Given the description of an element on the screen output the (x, y) to click on. 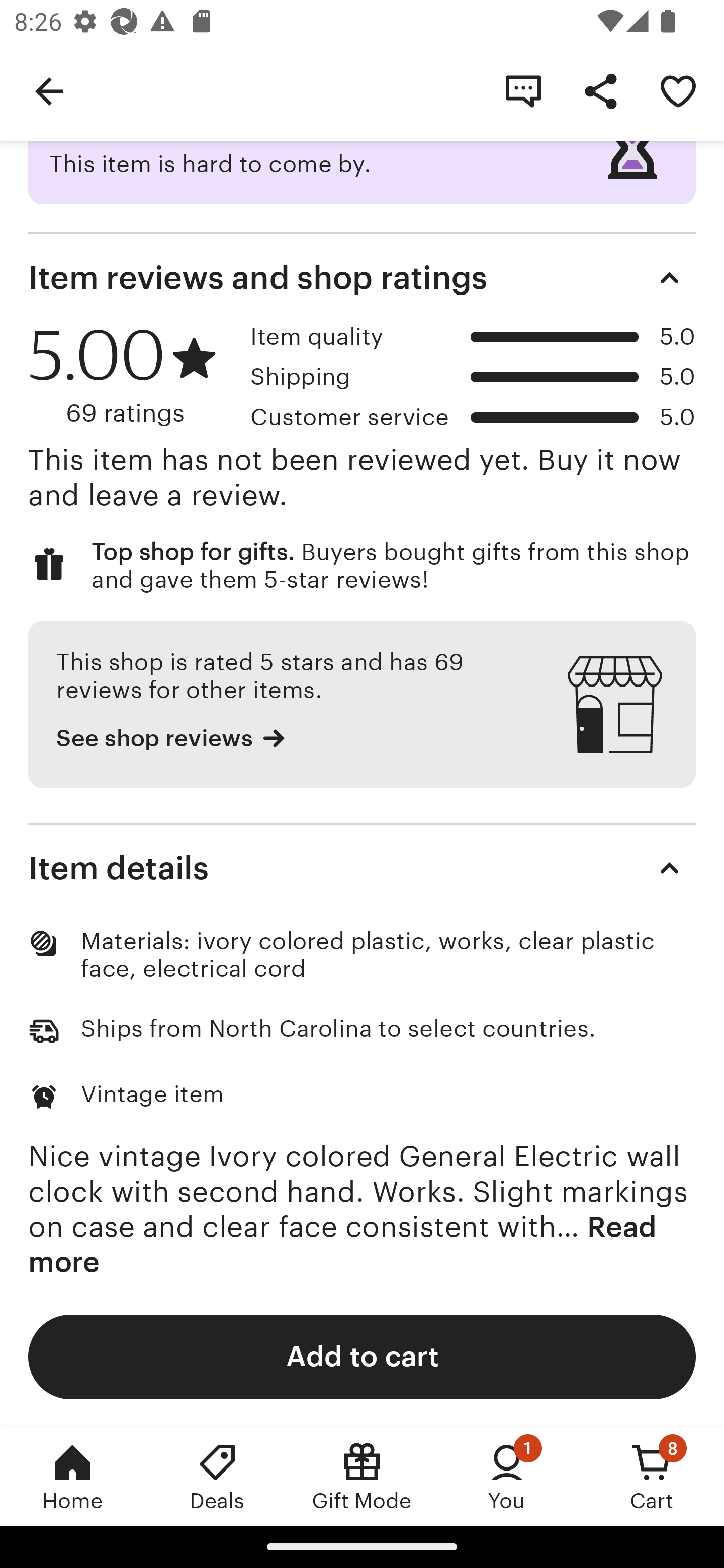
Navigate up (49, 90)
Contact shop (523, 90)
Share (600, 90)
Remove Vintage GE Wall Clock from your favorites (678, 90)
Item reviews and shop ratings (362, 277)
5.00 69 ratings (132, 374)
Item details (362, 868)
Add to cart (361, 1355)
Deals (216, 1475)
Gift Mode (361, 1475)
You, 1 new notification You (506, 1475)
Cart, 8 new notifications Cart (651, 1475)
